Given the description of an element on the screen output the (x, y) to click on. 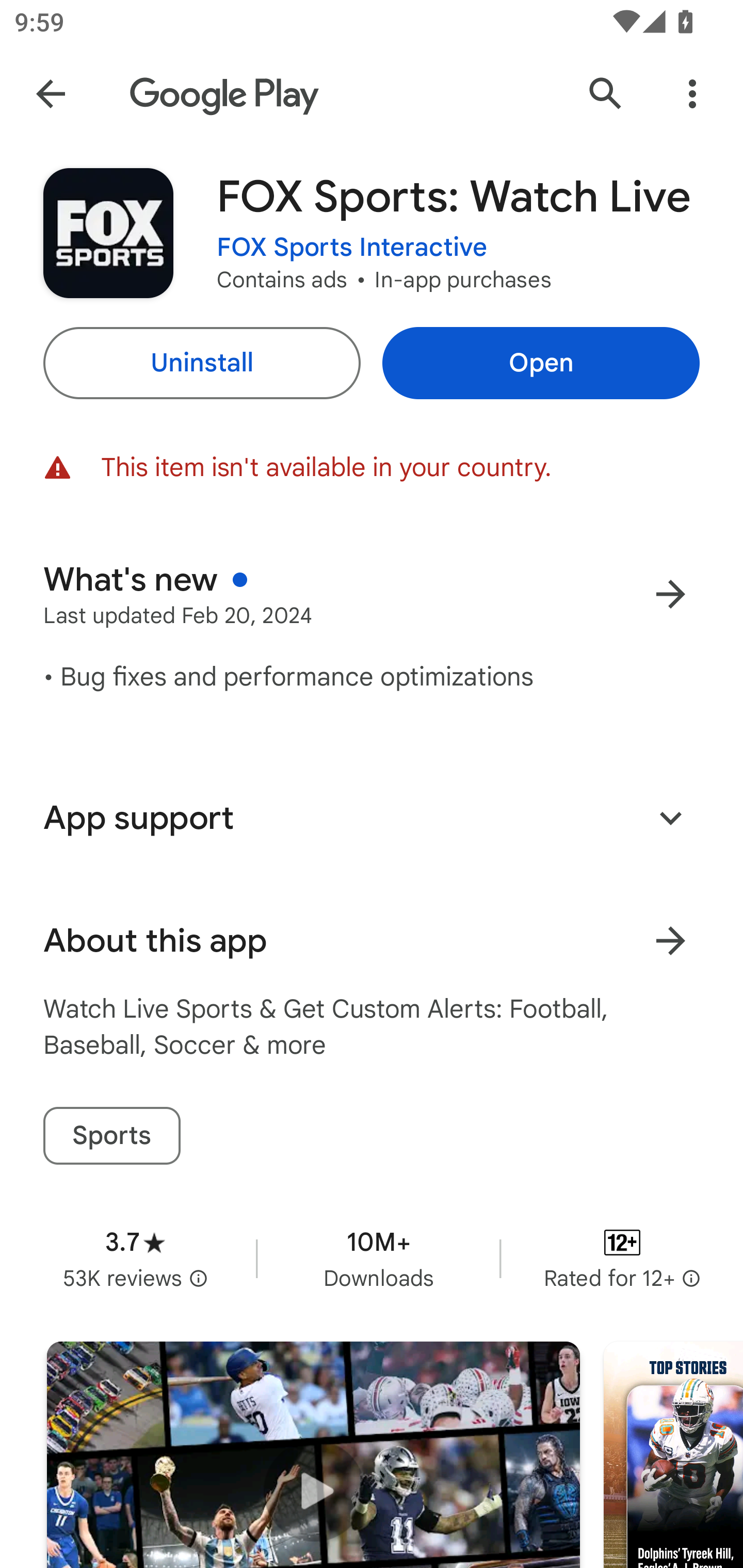
Navigate up (50, 93)
Search Google Play (605, 93)
More Options (692, 93)
FOX Sports Interactive (351, 247)
Uninstall (201, 362)
Open (540, 362)
More results for What's new (670, 594)
App support Expand (371, 817)
Expand (670, 817)
About this app Learn more About this app (371, 940)
Learn more About this app (670, 940)
Sports tag (111, 1135)
Average rating 3.7 stars in 53 thousand reviews (135, 1258)
Content rating Rated for 12+ (622, 1258)
Play trailer for "FOX Sports: Watch Live" (313, 1455)
